Given the description of an element on the screen output the (x, y) to click on. 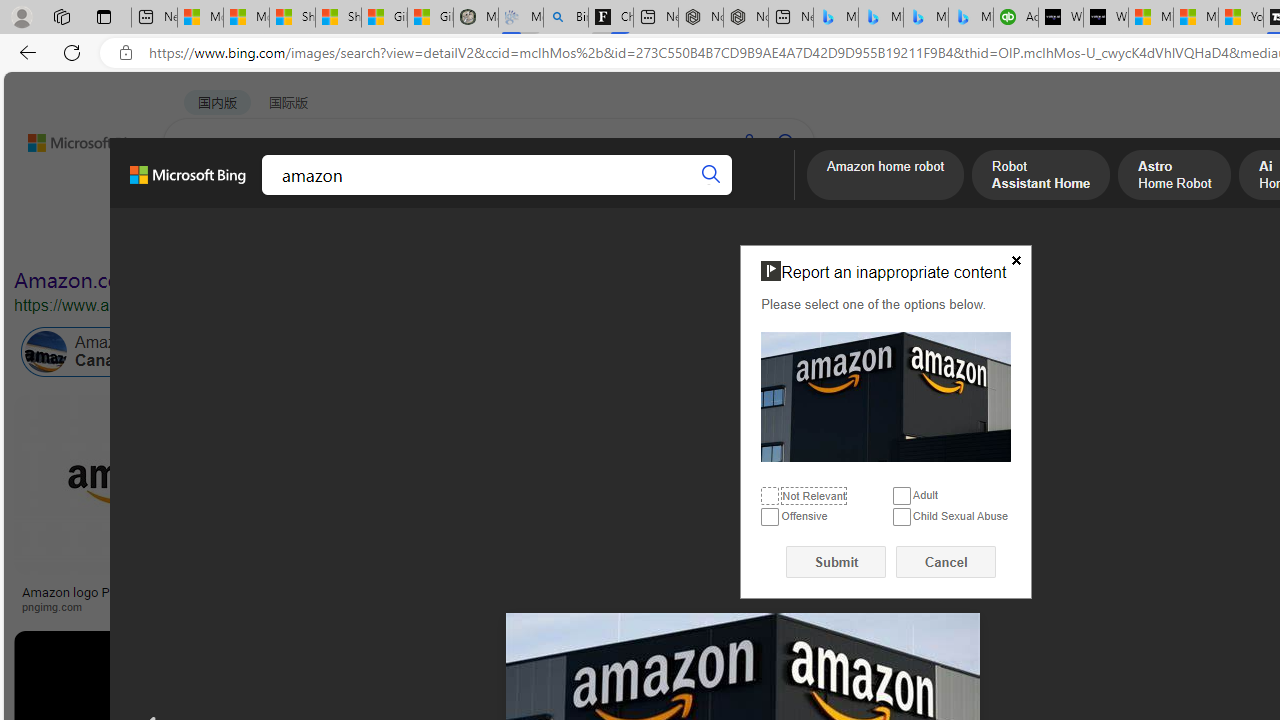
Date (591, 237)
DICT (630, 195)
pngimg.com (58, 605)
Echo Dot 4th Gen (1183, 465)
Back to Bing search (73, 138)
Amazon Kids (422, 351)
Report an inappropriate content (886, 396)
Invisible focusable element for fixing accessibility issue (749, 249)
DICT (630, 195)
MAPS (698, 195)
usatoday.com (587, 605)
